Given the description of an element on the screen output the (x, y) to click on. 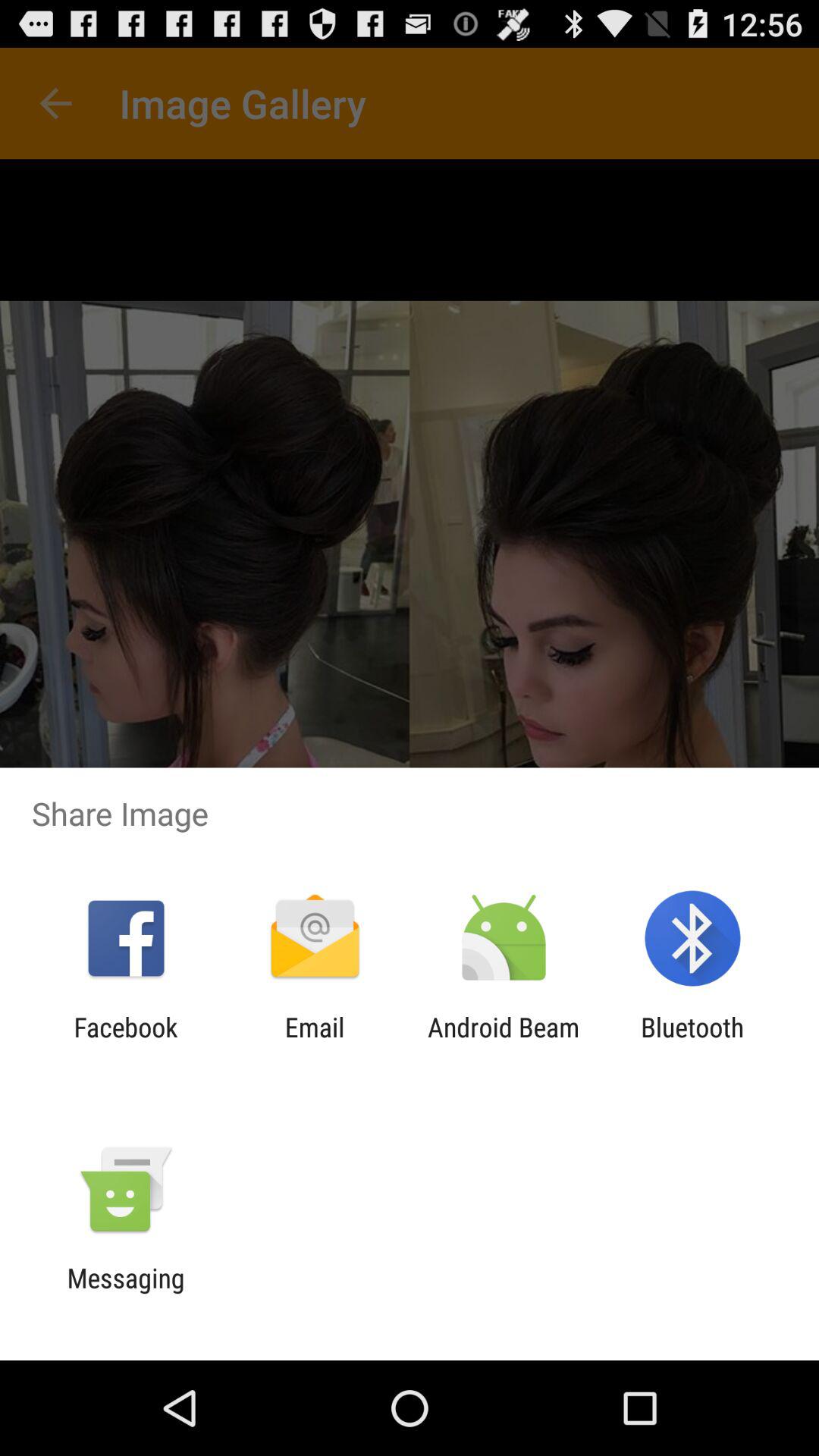
jump until the bluetooth icon (691, 1042)
